Given the description of an element on the screen output the (x, y) to click on. 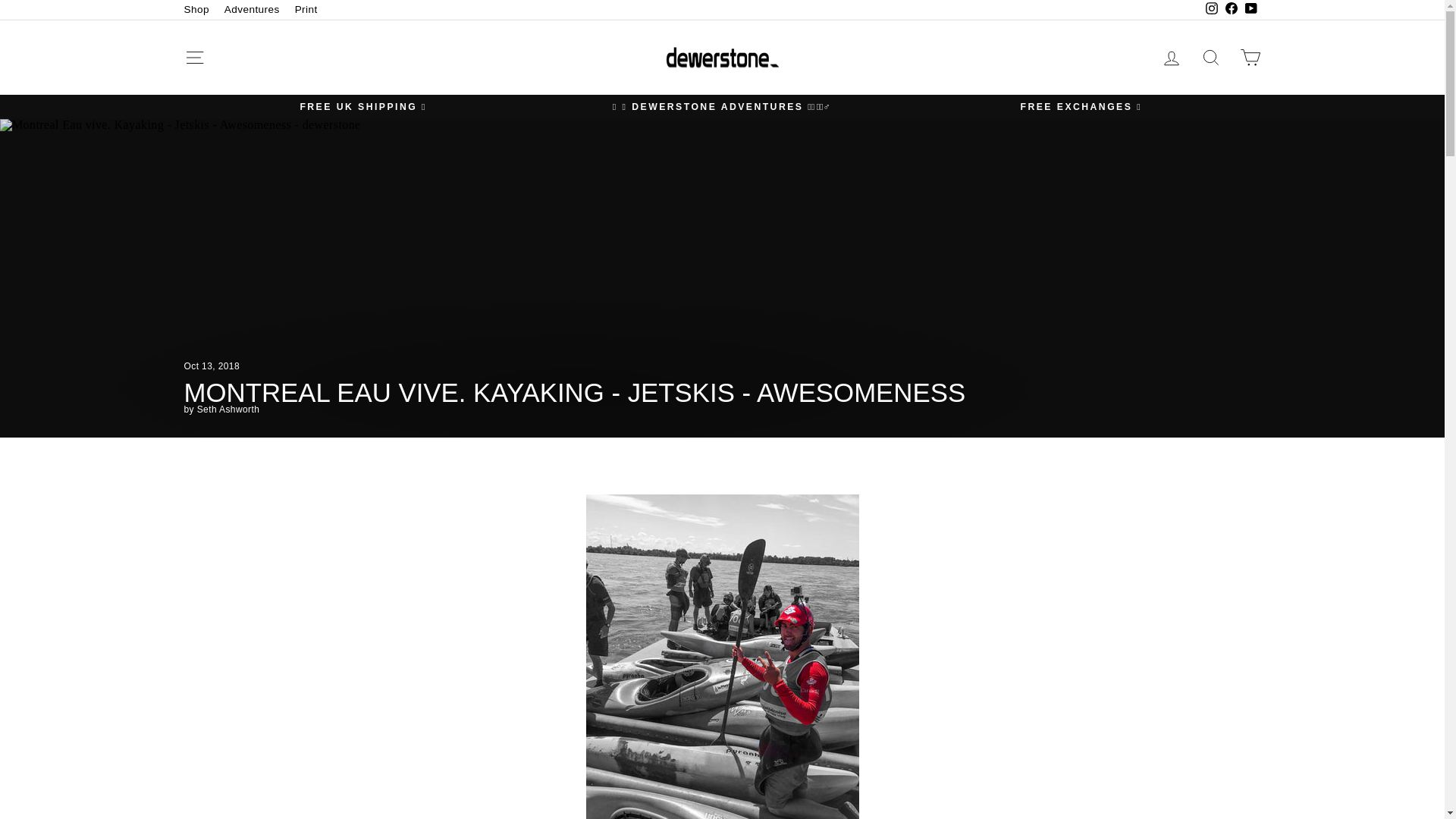
ACCOUNT (1170, 57)
instagram (1211, 8)
Dewerstone on Instagram (1211, 9)
Dewerstone on YouTube (1250, 9)
Dewerstone on Facebook (1230, 9)
ICON-SEARCH (1210, 56)
ICON-HAMBURGER (194, 56)
